Given the description of an element on the screen output the (x, y) to click on. 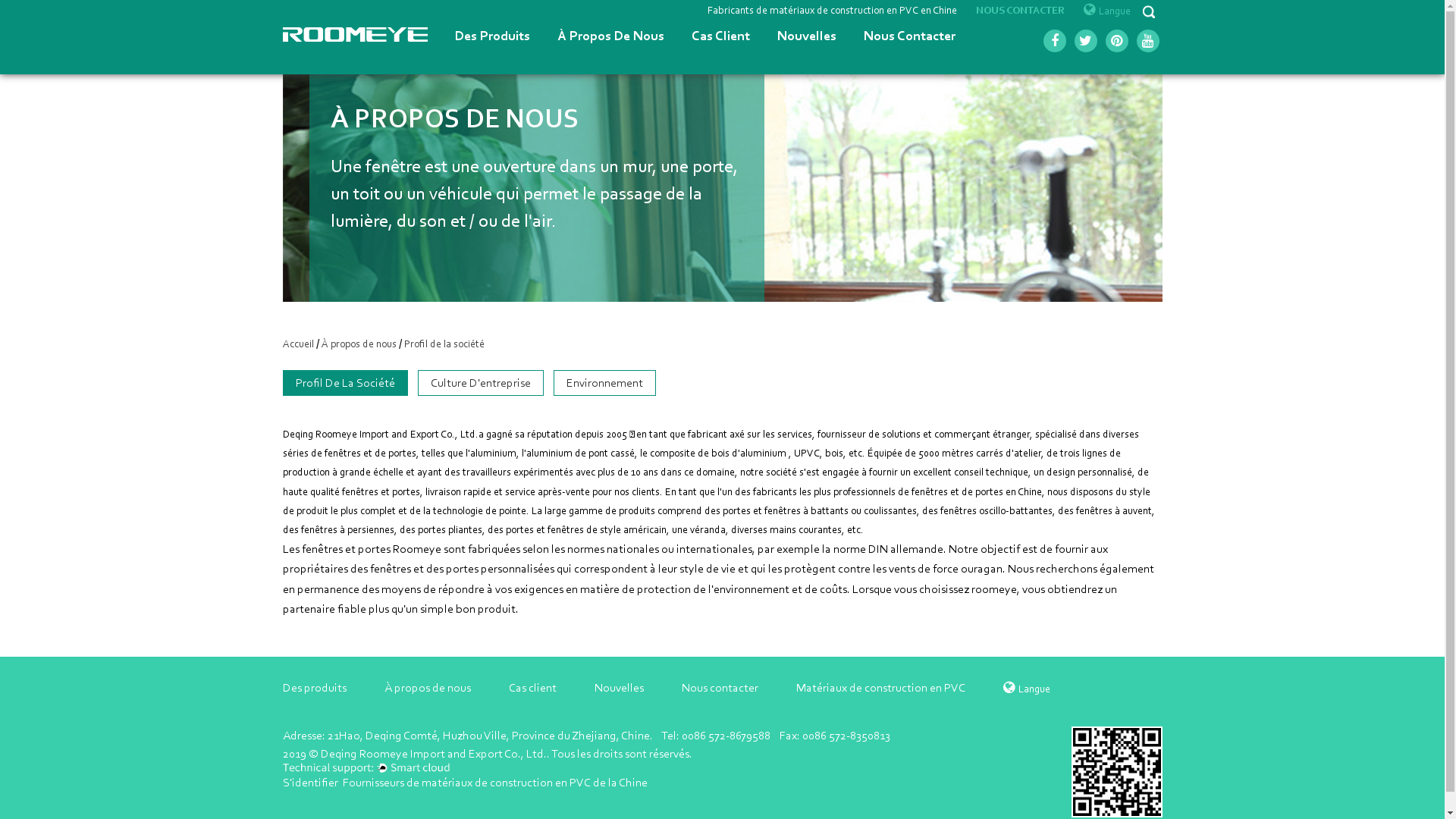
Cas Client Element type: text (720, 36)
Cas client Element type: text (531, 687)
Environnement Element type: text (604, 382)
NOUS CONTACTER Element type: text (1019, 11)
Accueil Element type: text (297, 343)
Nouvelles Element type: text (618, 687)
Des Produits Element type: text (492, 36)
Deqing Roomeye Import and Export Co., Ltd. Element type: text (433, 753)
Des produits Element type: text (313, 687)
Nouvelles Element type: text (805, 36)
Nous contacter Element type: text (718, 687)
S'identifier Element type: text (309, 782)
Culture D'Entreprise Element type: text (479, 382)
https://www.roomeye.cc Element type: hover (1115, 771)
Nous Contacter Element type: text (908, 36)
